Given the description of an element on the screen output the (x, y) to click on. 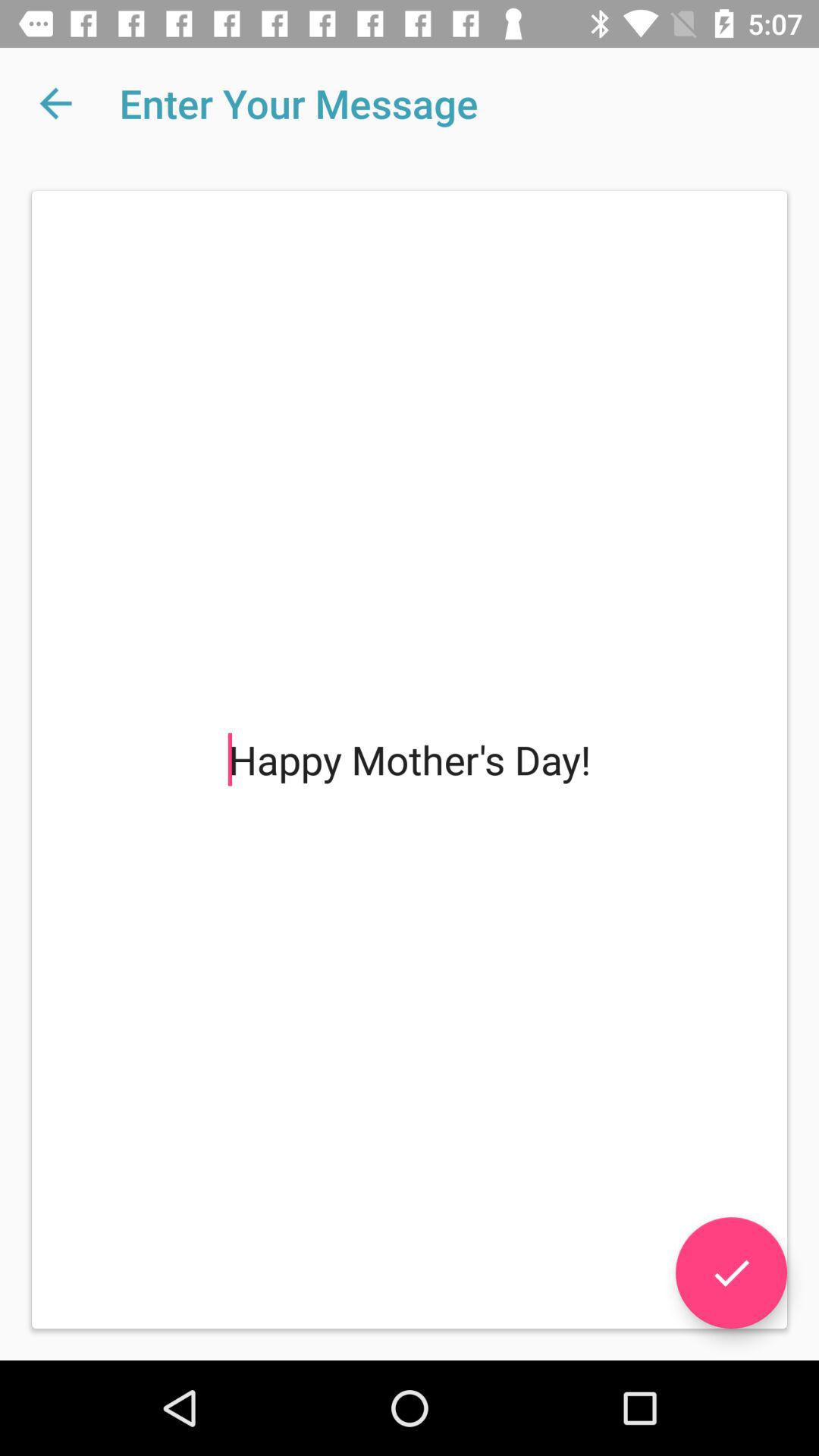
press the item above happy mother s (55, 103)
